Given the description of an element on the screen output the (x, y) to click on. 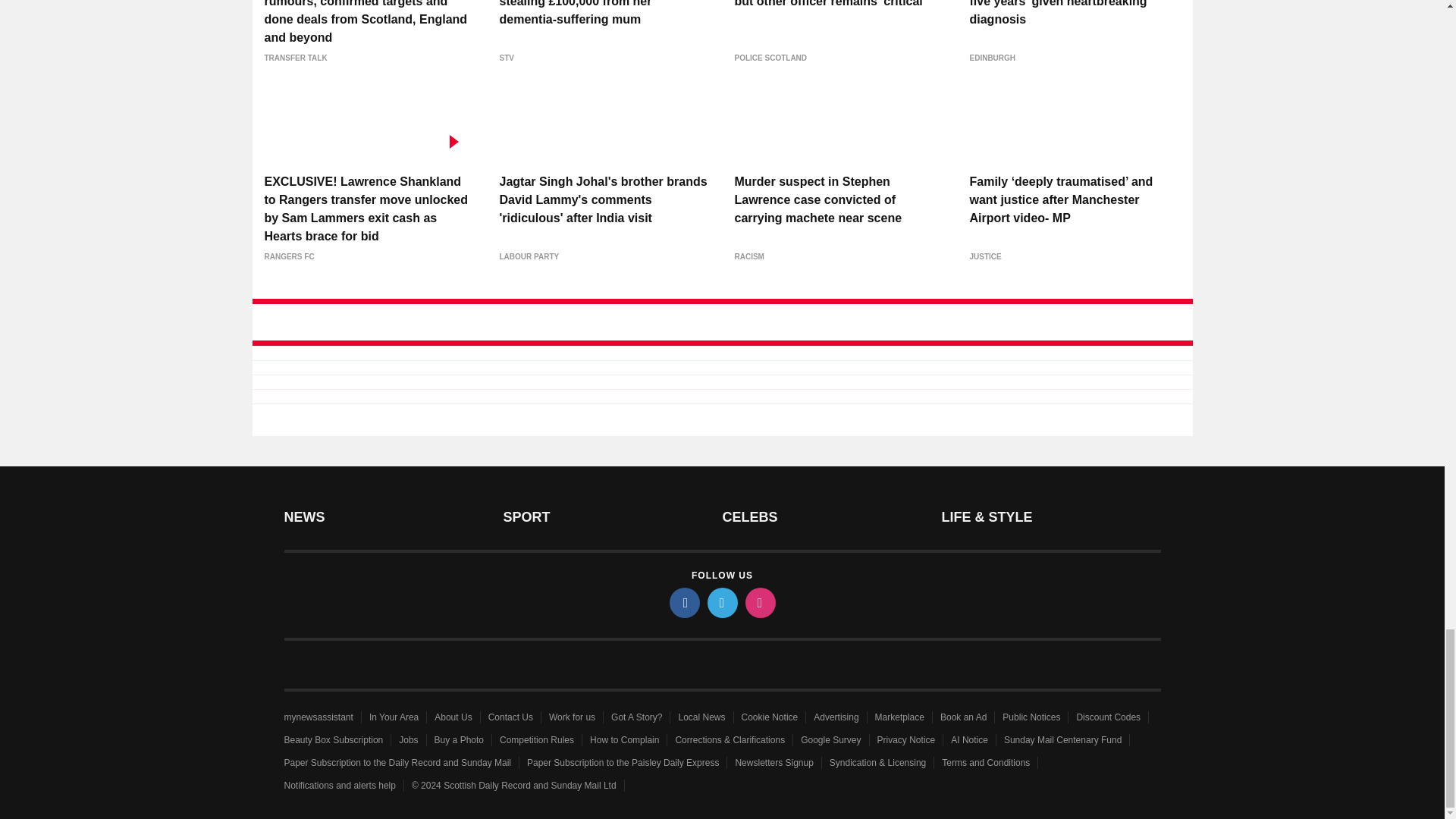
facebook (683, 603)
twitter (721, 603)
instagram (759, 603)
